Given the description of an element on the screen output the (x, y) to click on. 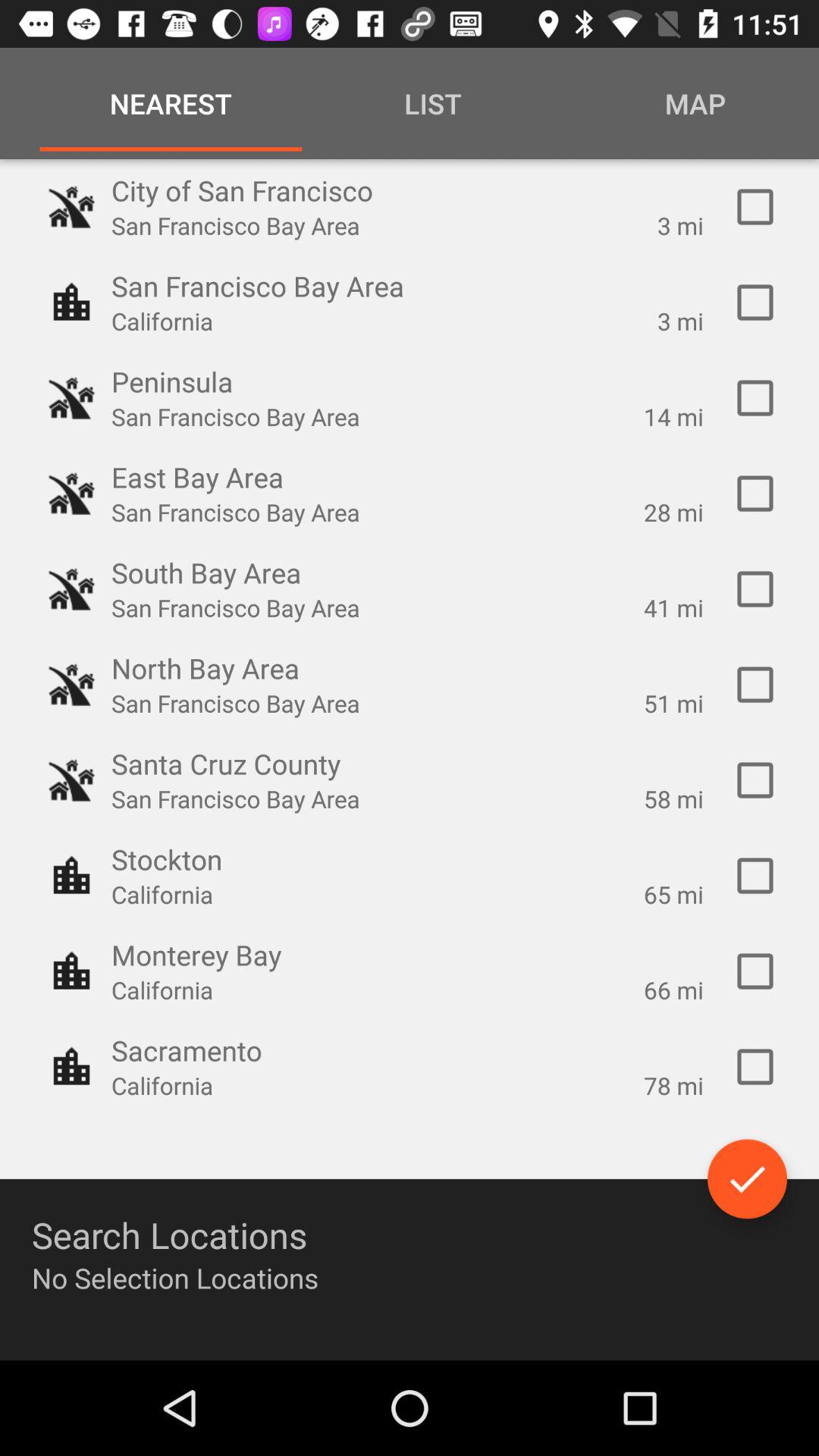
select the location (755, 589)
